Given the description of an element on the screen output the (x, y) to click on. 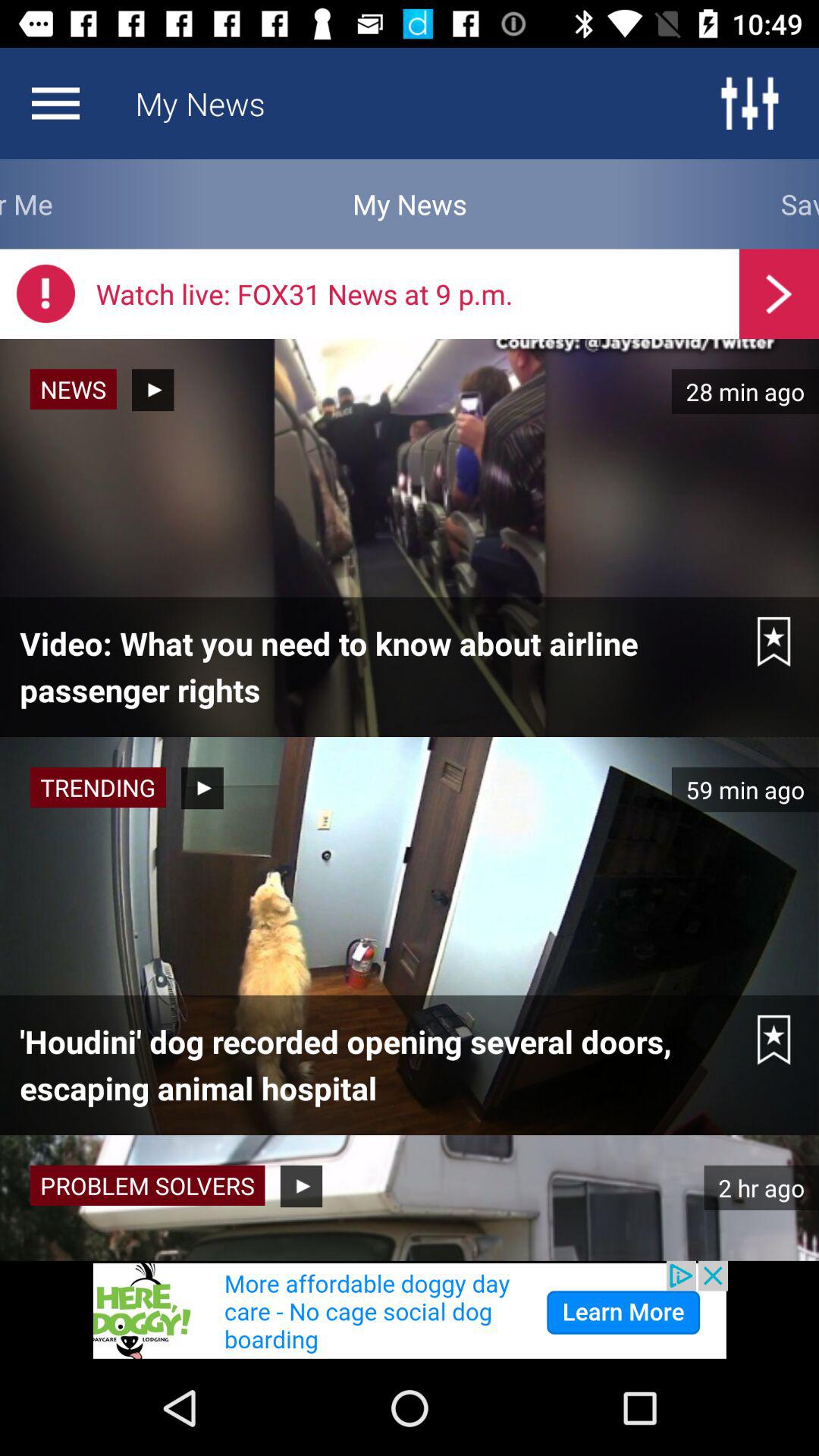
brings up menu (55, 103)
